Given the description of an element on the screen output the (x, y) to click on. 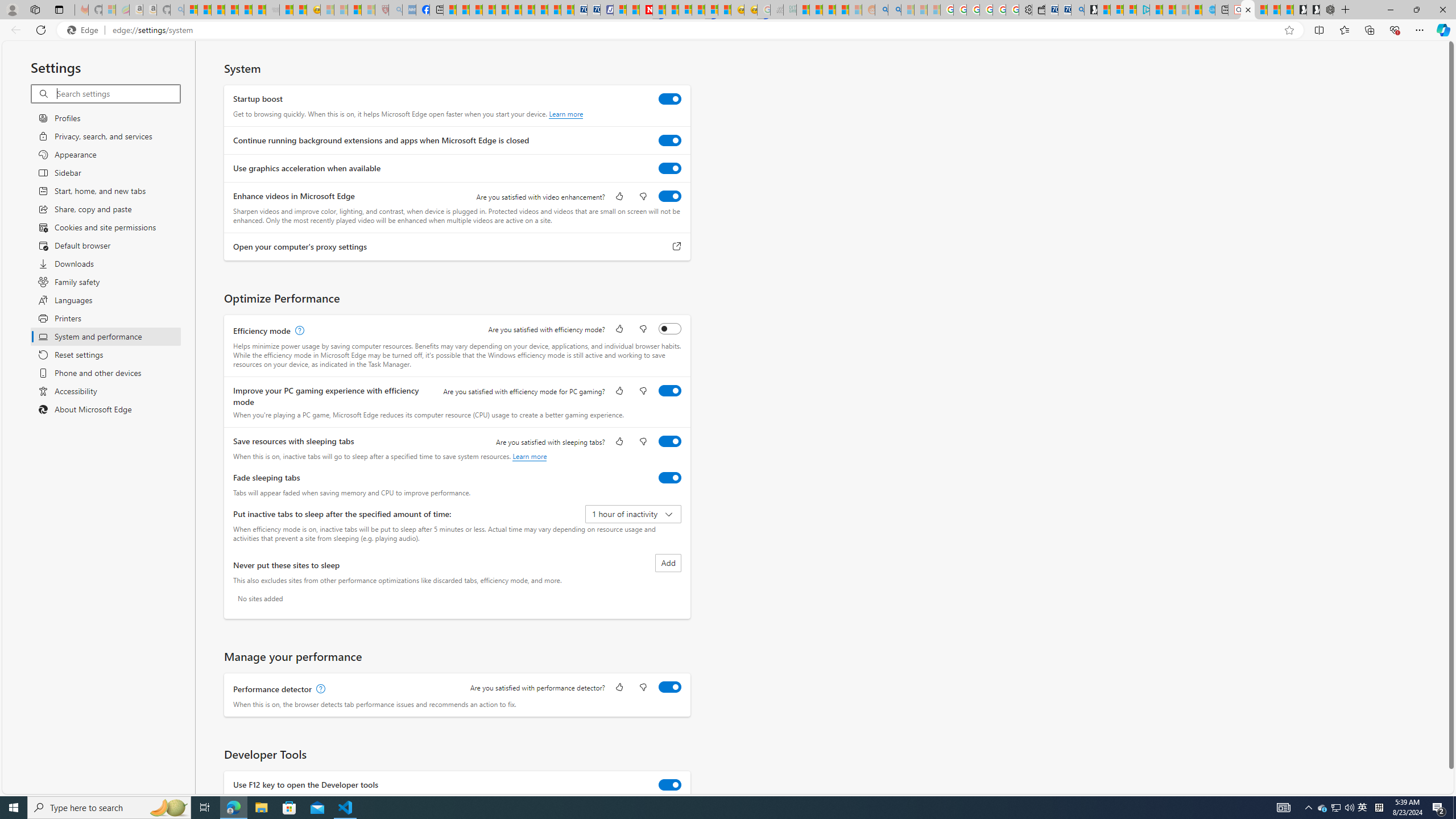
Latest Politics News & Archive | Newsweek.com (646, 9)
The Weather Channel - MSN (218, 9)
Efficiency mode, learn more (298, 330)
